Given the description of an element on the screen output the (x, y) to click on. 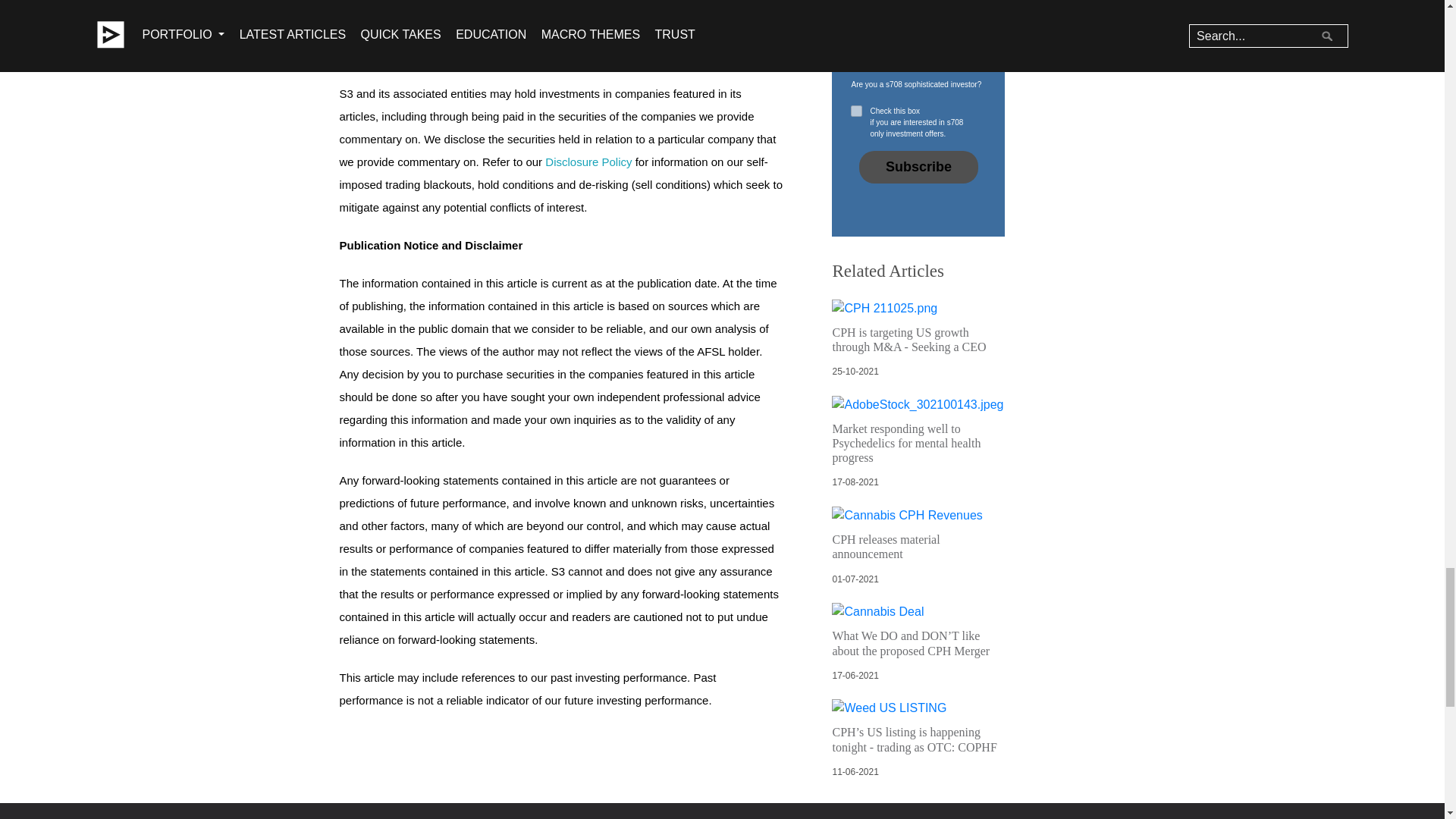
Disclosure Policy (587, 161)
